Given the description of an element on the screen output the (x, y) to click on. 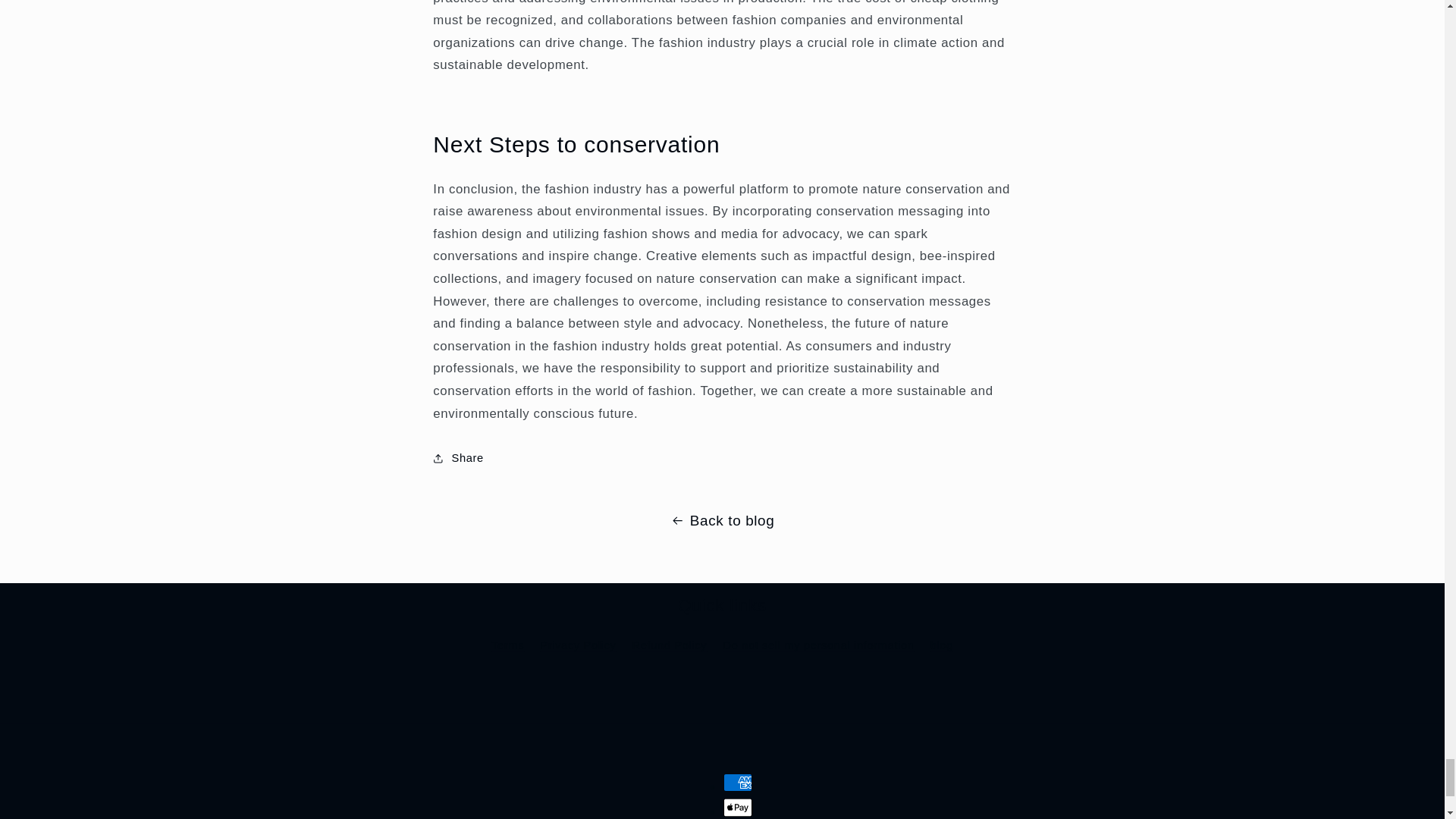
Apple Pay (737, 807)
American Express (737, 782)
